Given the description of an element on the screen output the (x, y) to click on. 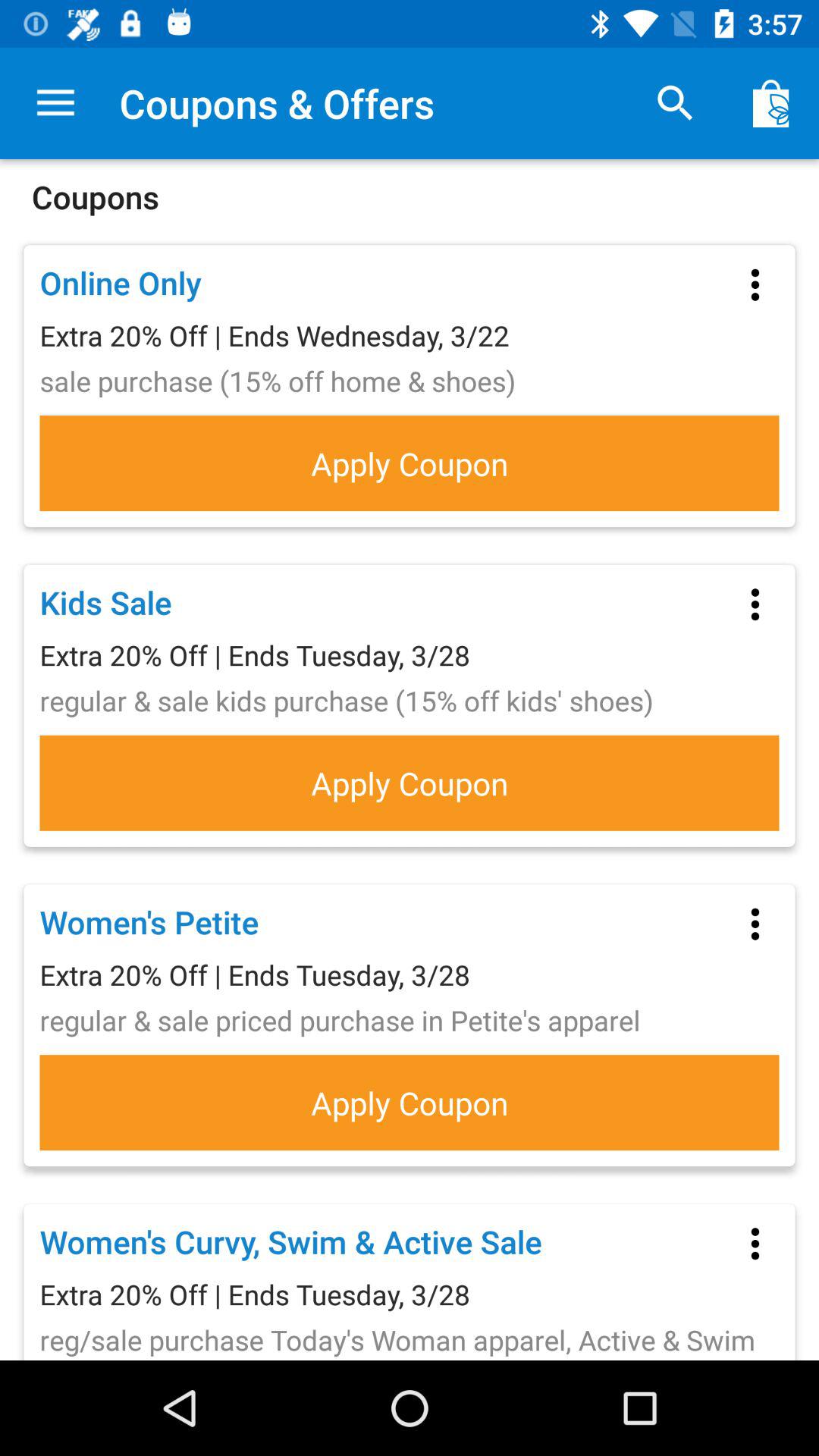
turn off the item next to the coupons & offers item (675, 103)
